Given the description of an element on the screen output the (x, y) to click on. 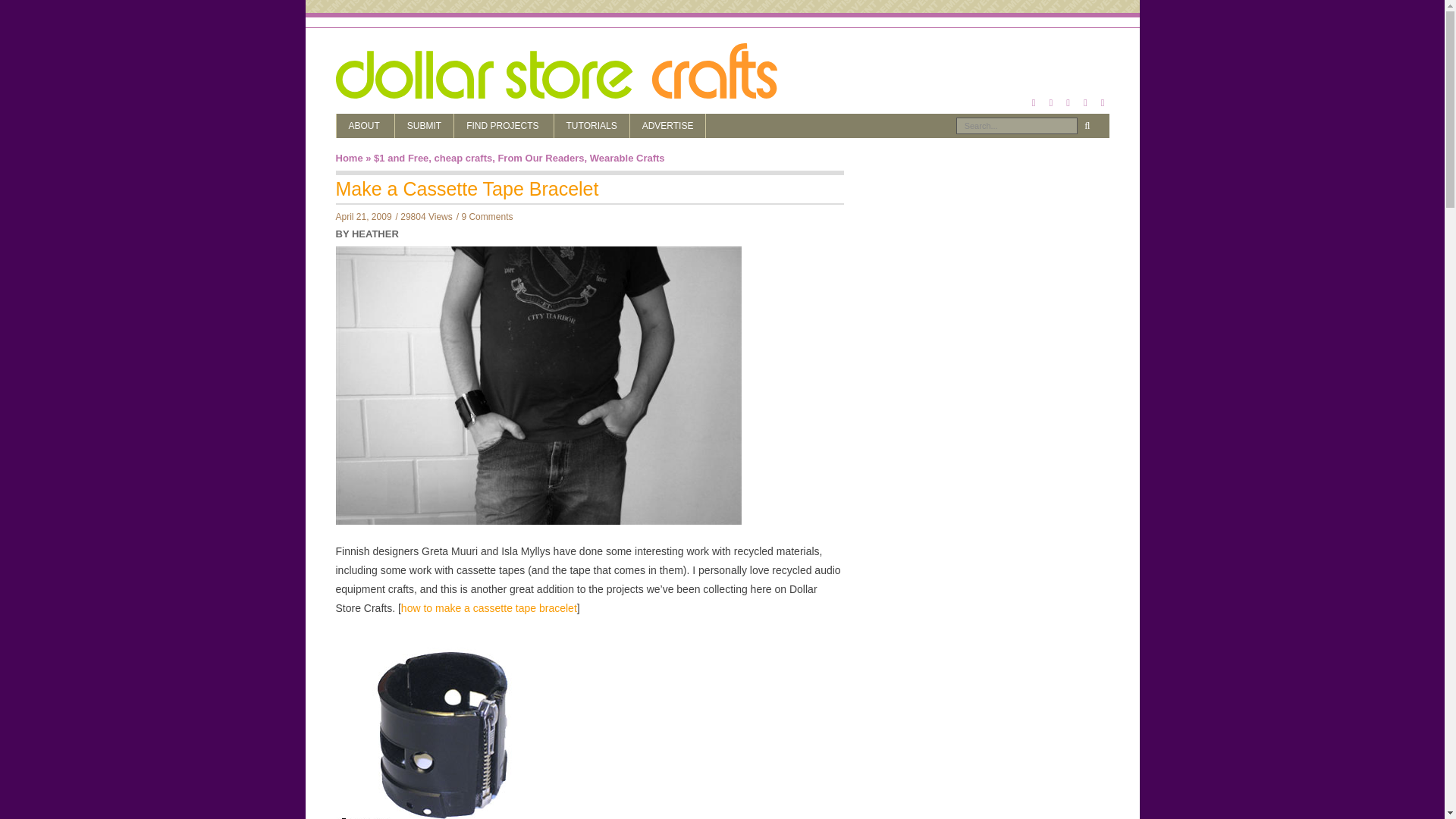
ABOUT (365, 125)
